Given the description of an element on the screen output the (x, y) to click on. 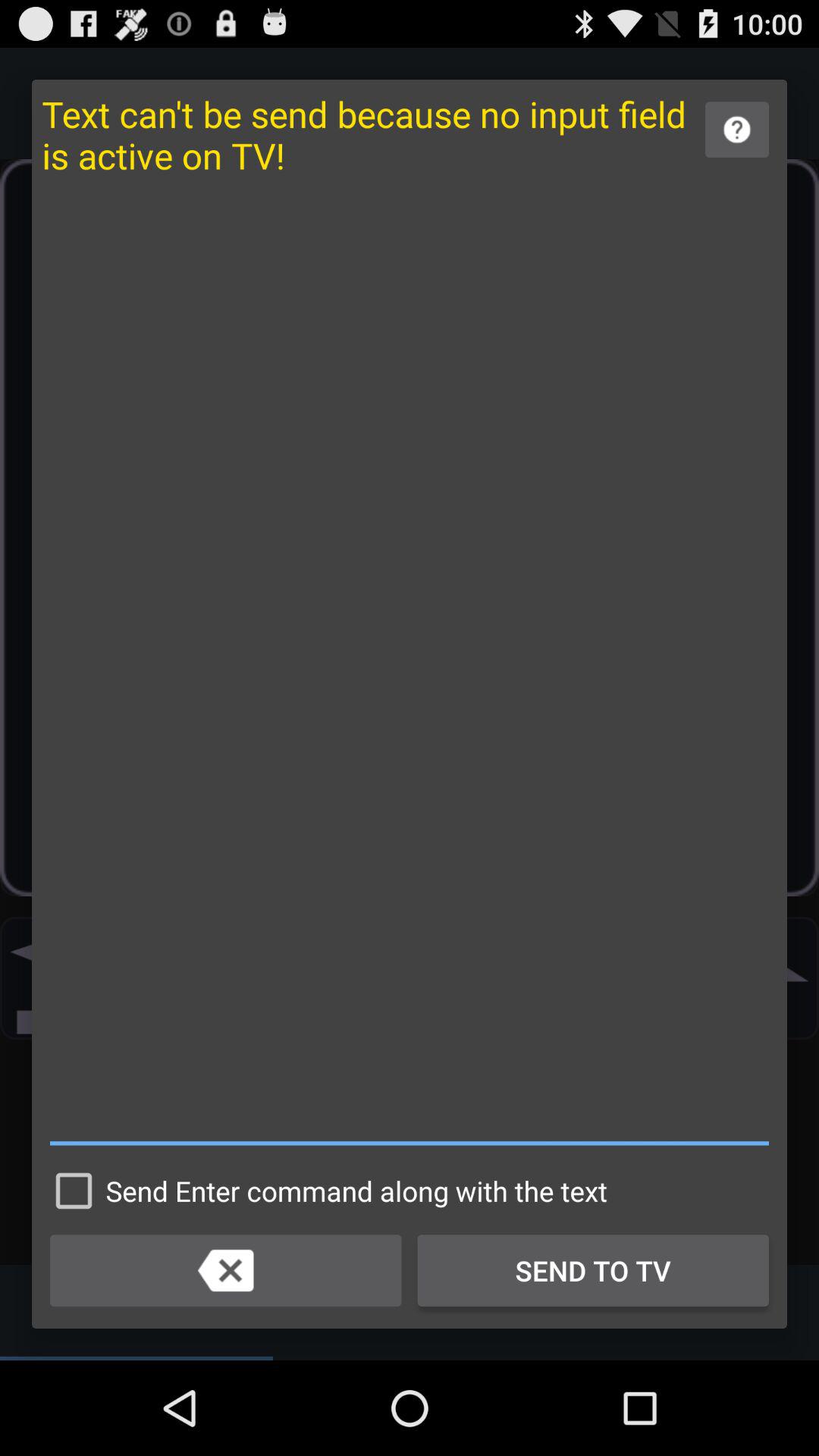
open item to the left of send to tv (225, 1270)
